Given the description of an element on the screen output the (x, y) to click on. 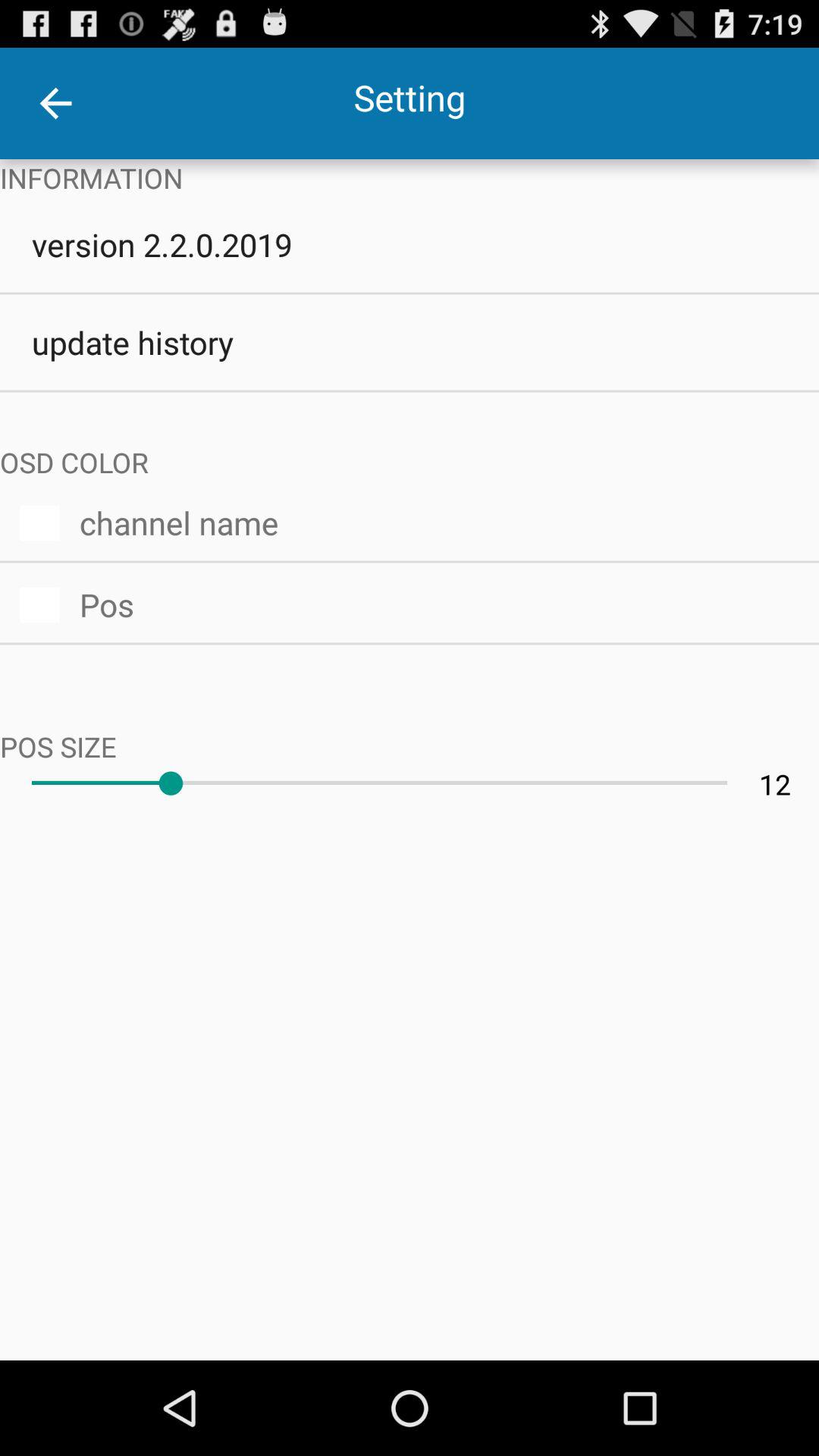
jump to the version 2 2 icon (409, 244)
